Given the description of an element on the screen output the (x, y) to click on. 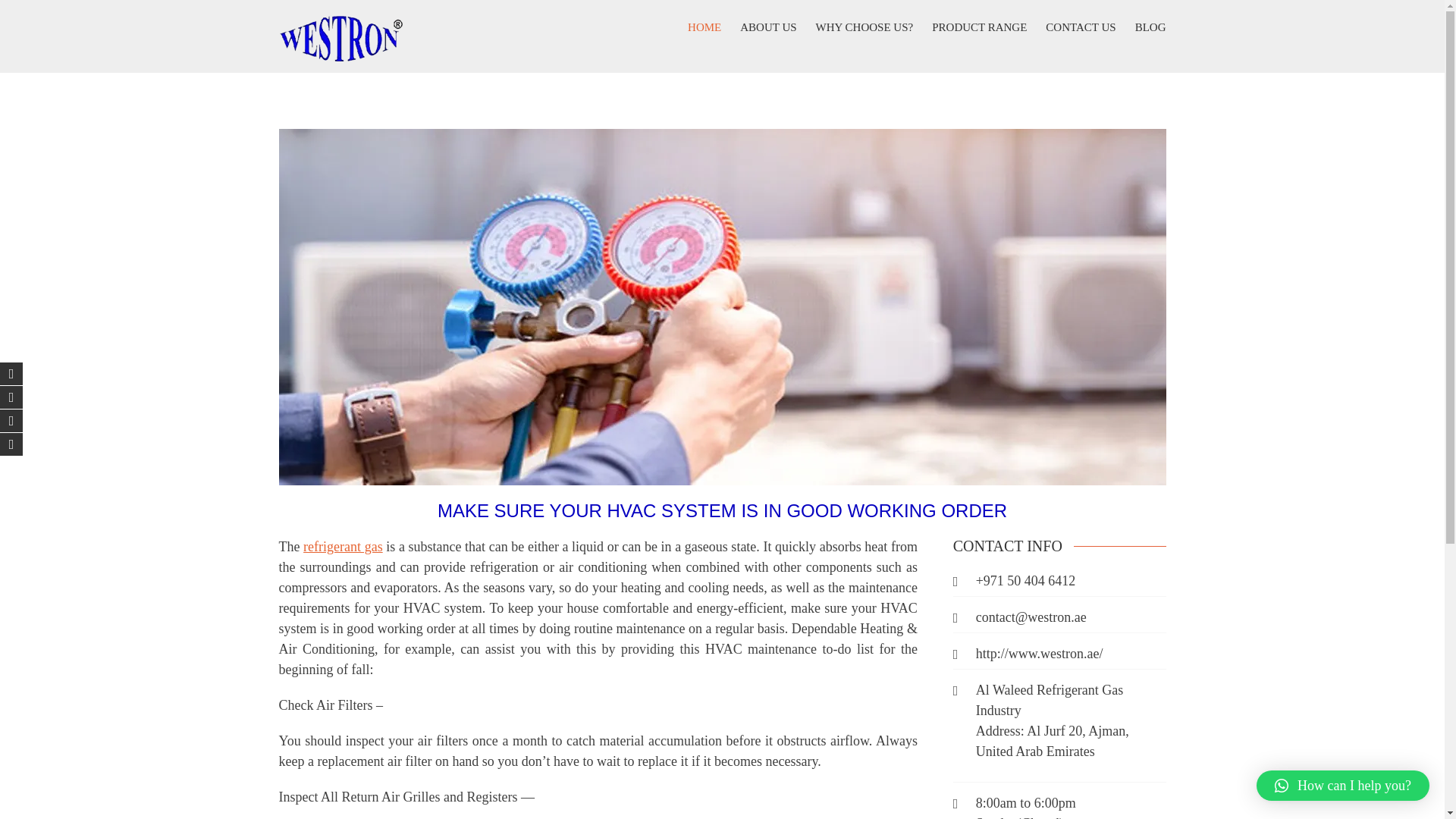
refrigerant gas (342, 546)
HOME (703, 27)
WHY CHOOSE US? (864, 27)
ABOUT US (767, 27)
BLOG (1150, 27)
PRODUCT RANGE (978, 27)
CONTACT US (1080, 27)
How can I help you? (1342, 785)
